Given the description of an element on the screen output the (x, y) to click on. 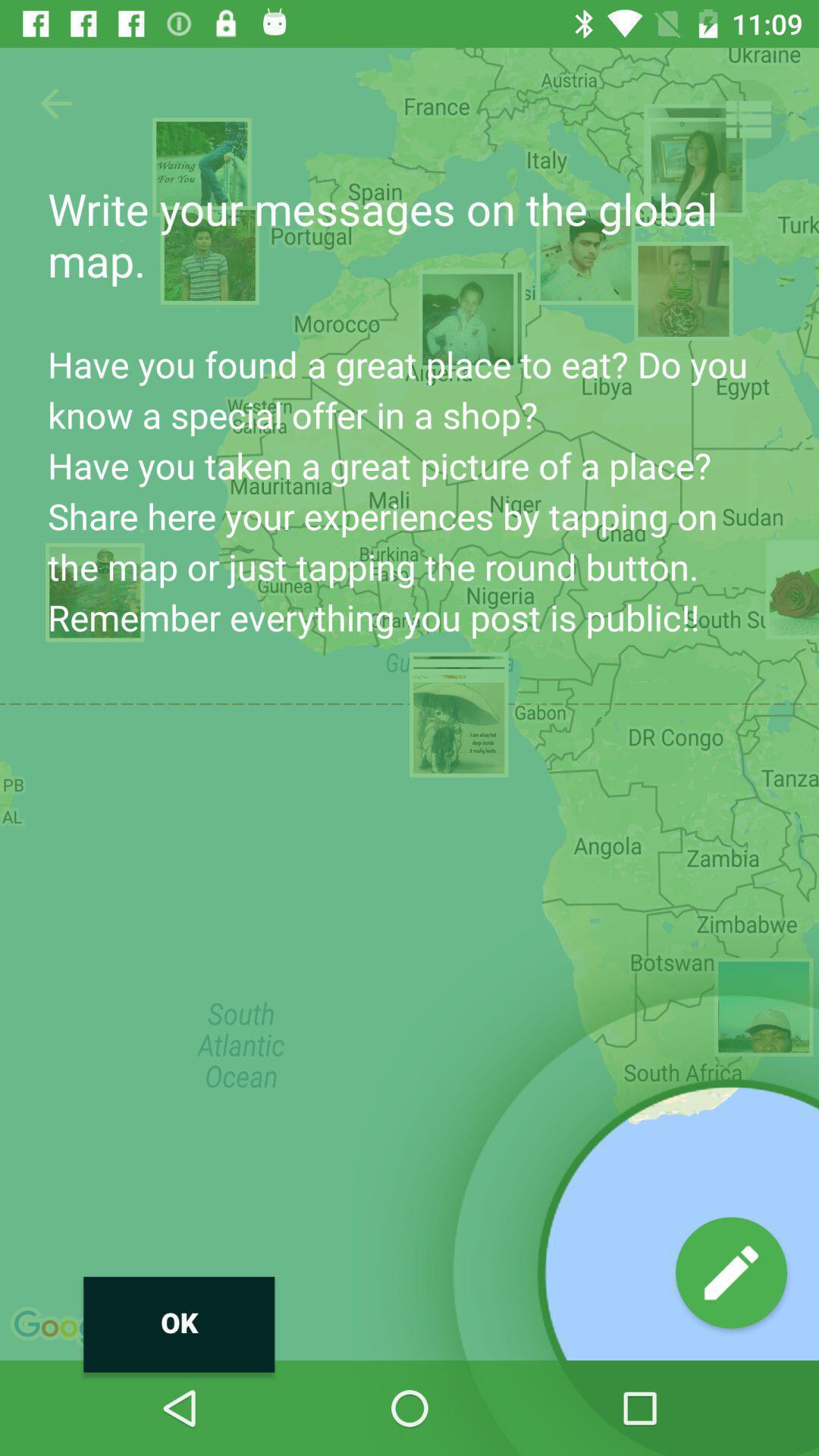
choose the ok (178, 1324)
